Given the description of an element on the screen output the (x, y) to click on. 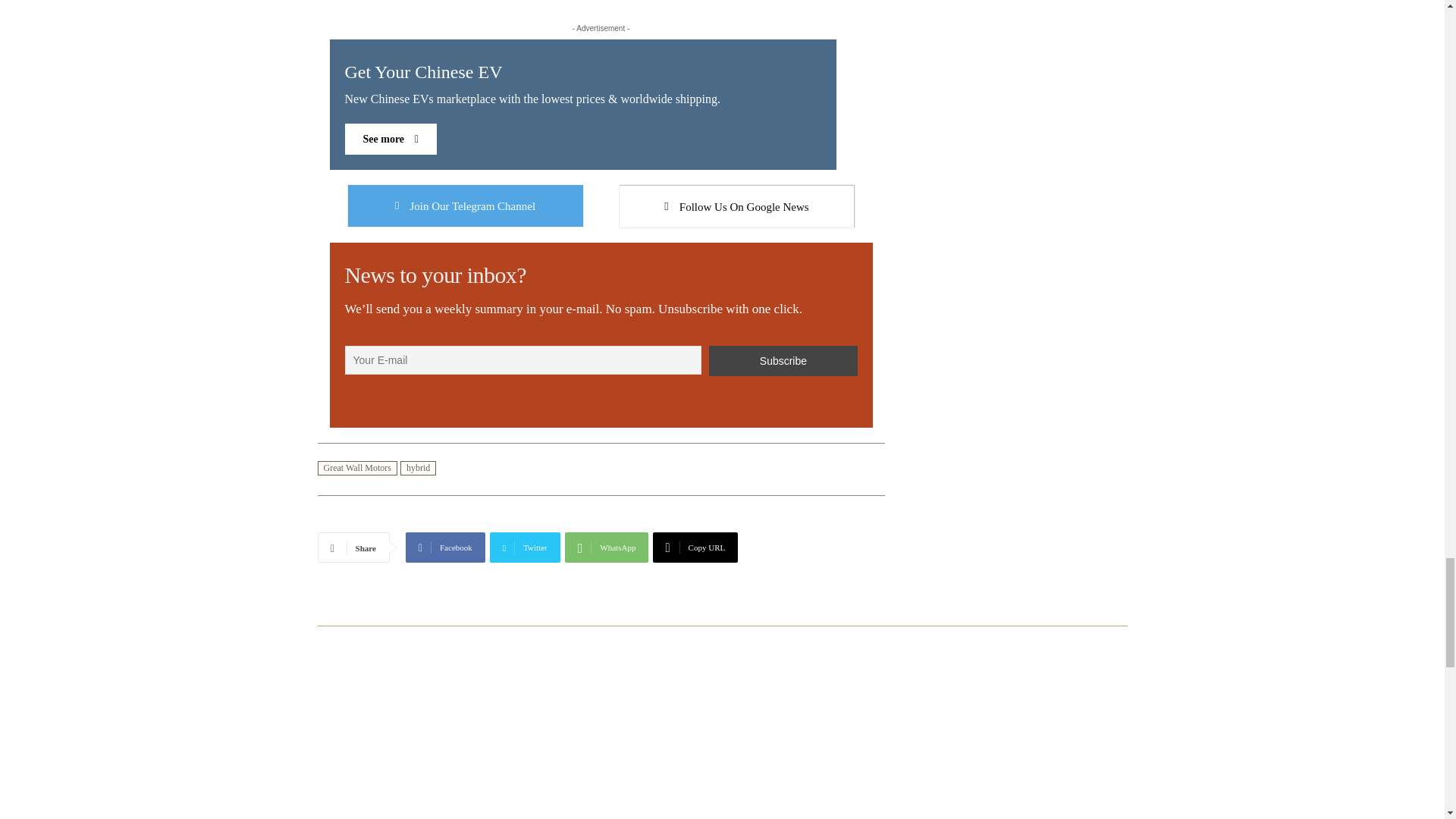
Subscribe (600, 213)
